Given the description of an element on the screen output the (x, y) to click on. 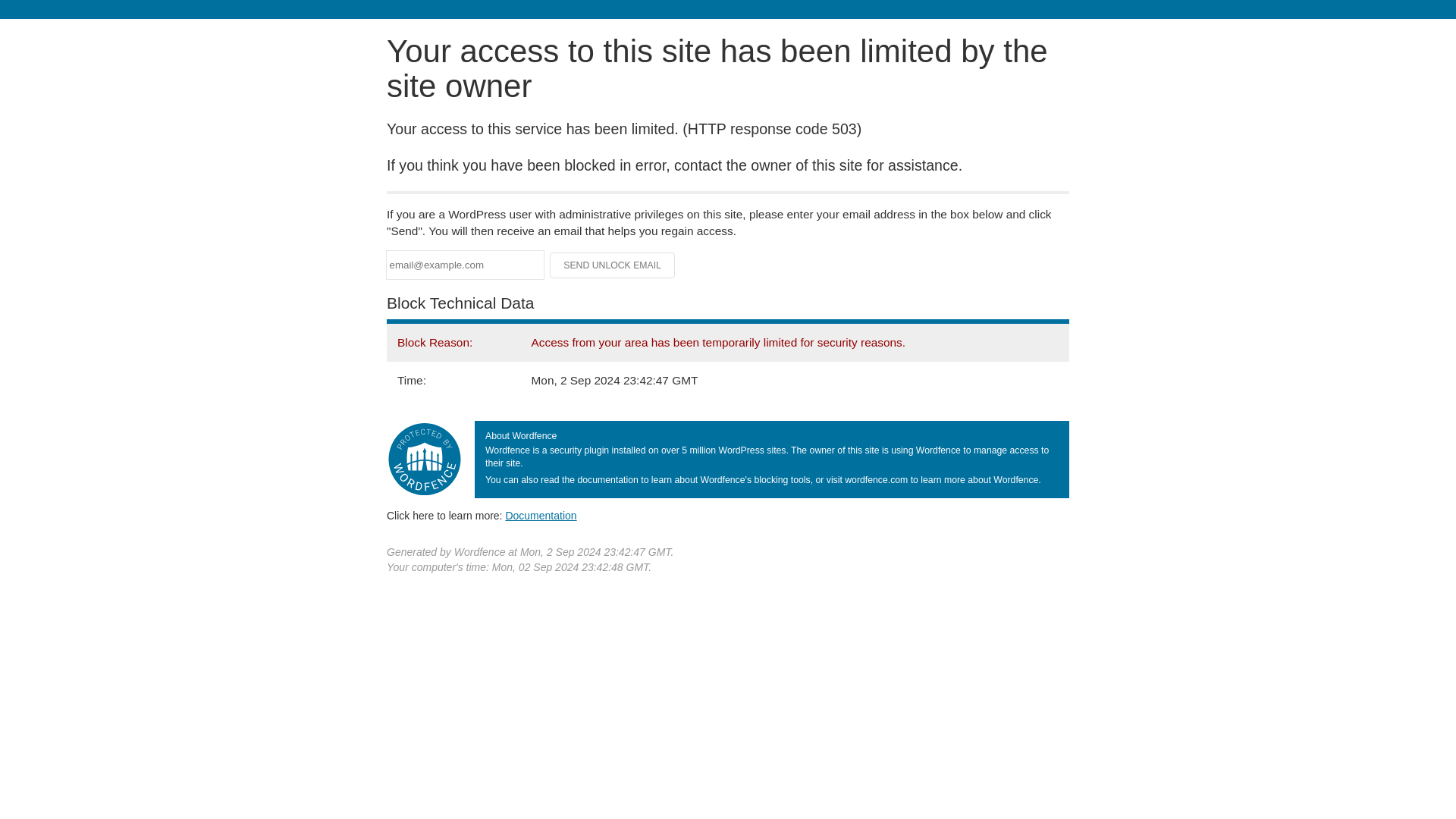
Documentation (540, 515)
Send Unlock Email (612, 265)
Send Unlock Email (612, 265)
